Given the description of an element on the screen output the (x, y) to click on. 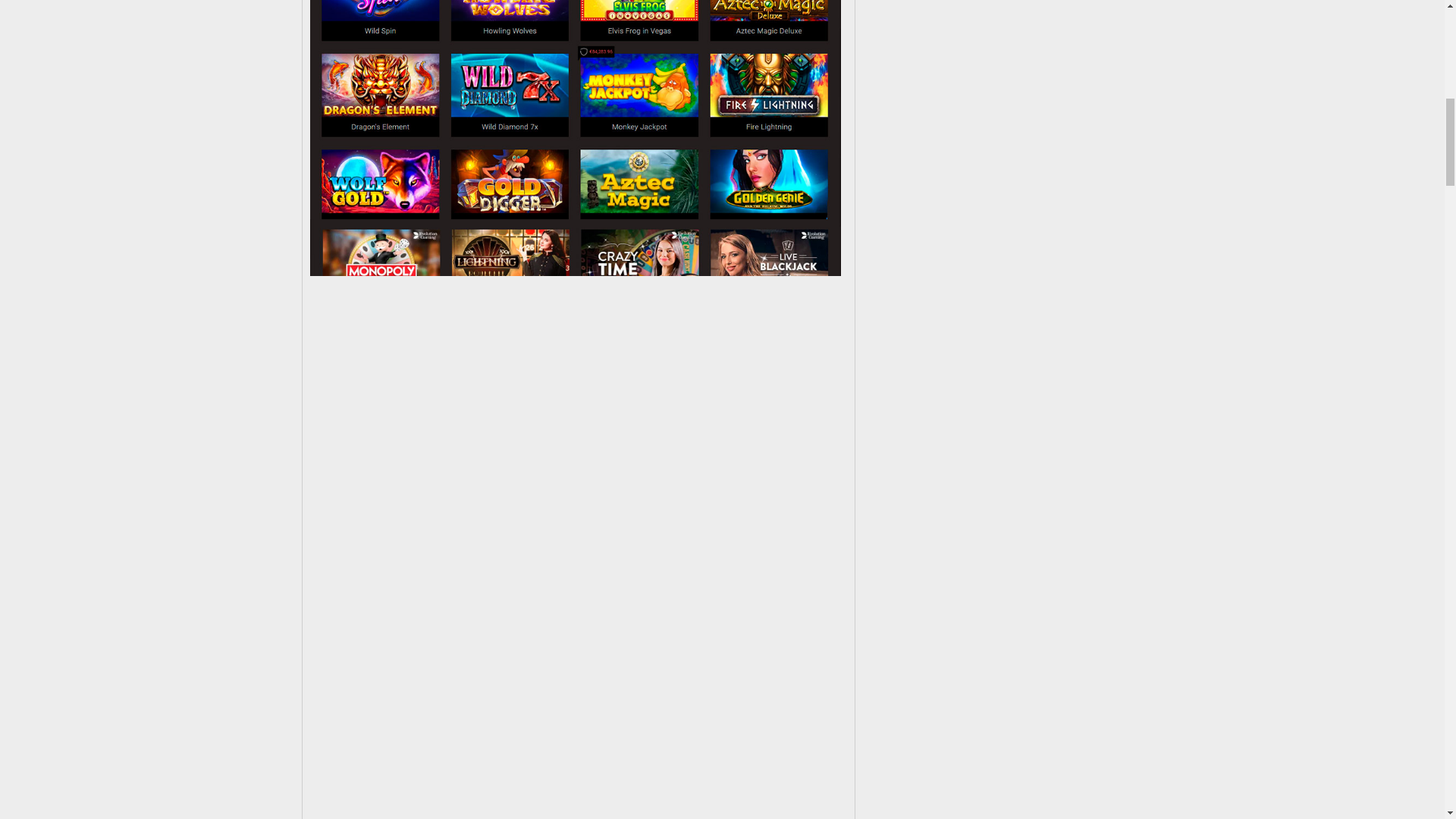
TOP (1397, 73)
